Given the description of an element on the screen output the (x, y) to click on. 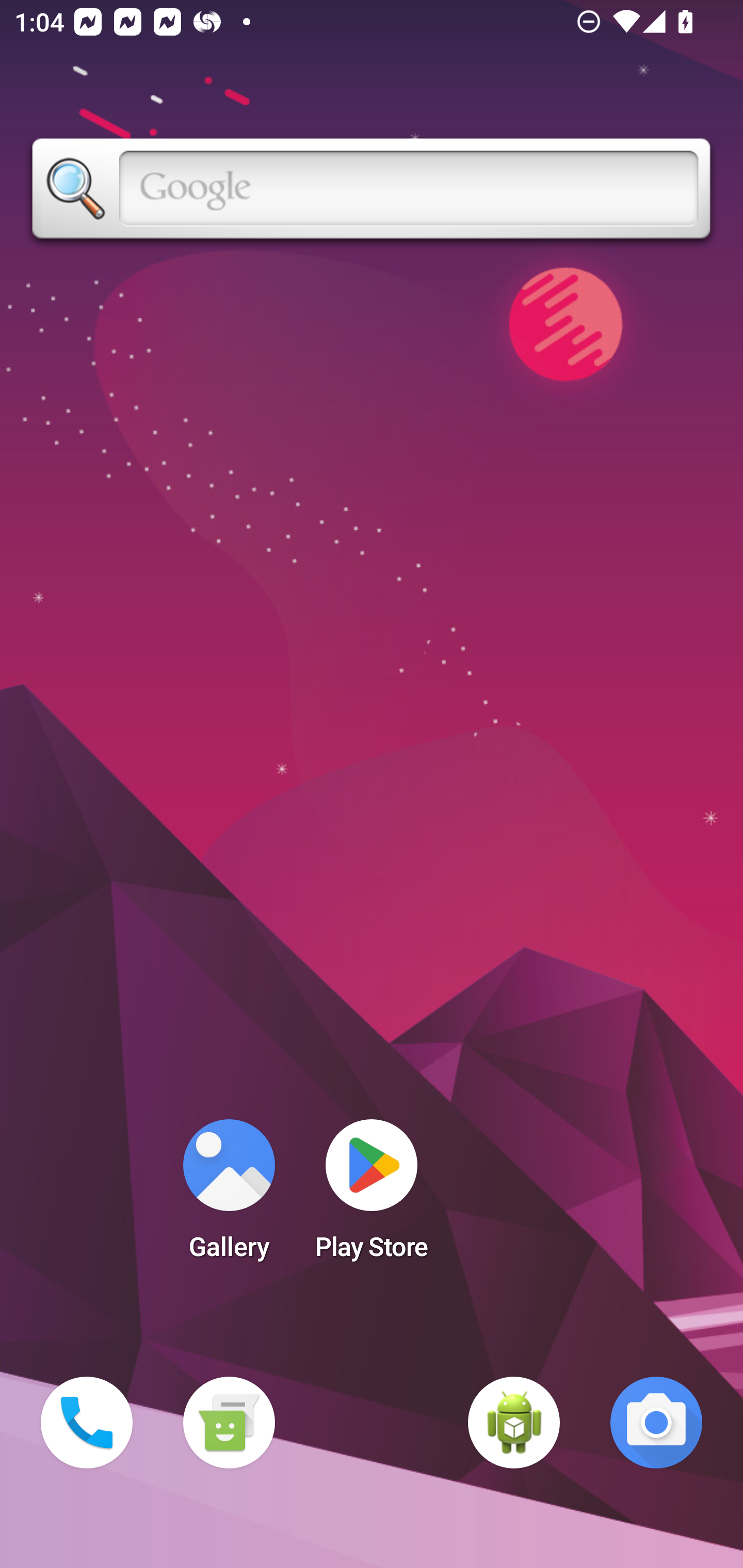
Gallery (228, 1195)
Play Store (371, 1195)
Phone (86, 1422)
Messaging (228, 1422)
WebView Browser Tester (513, 1422)
Camera (656, 1422)
